Given the description of an element on the screen output the (x, y) to click on. 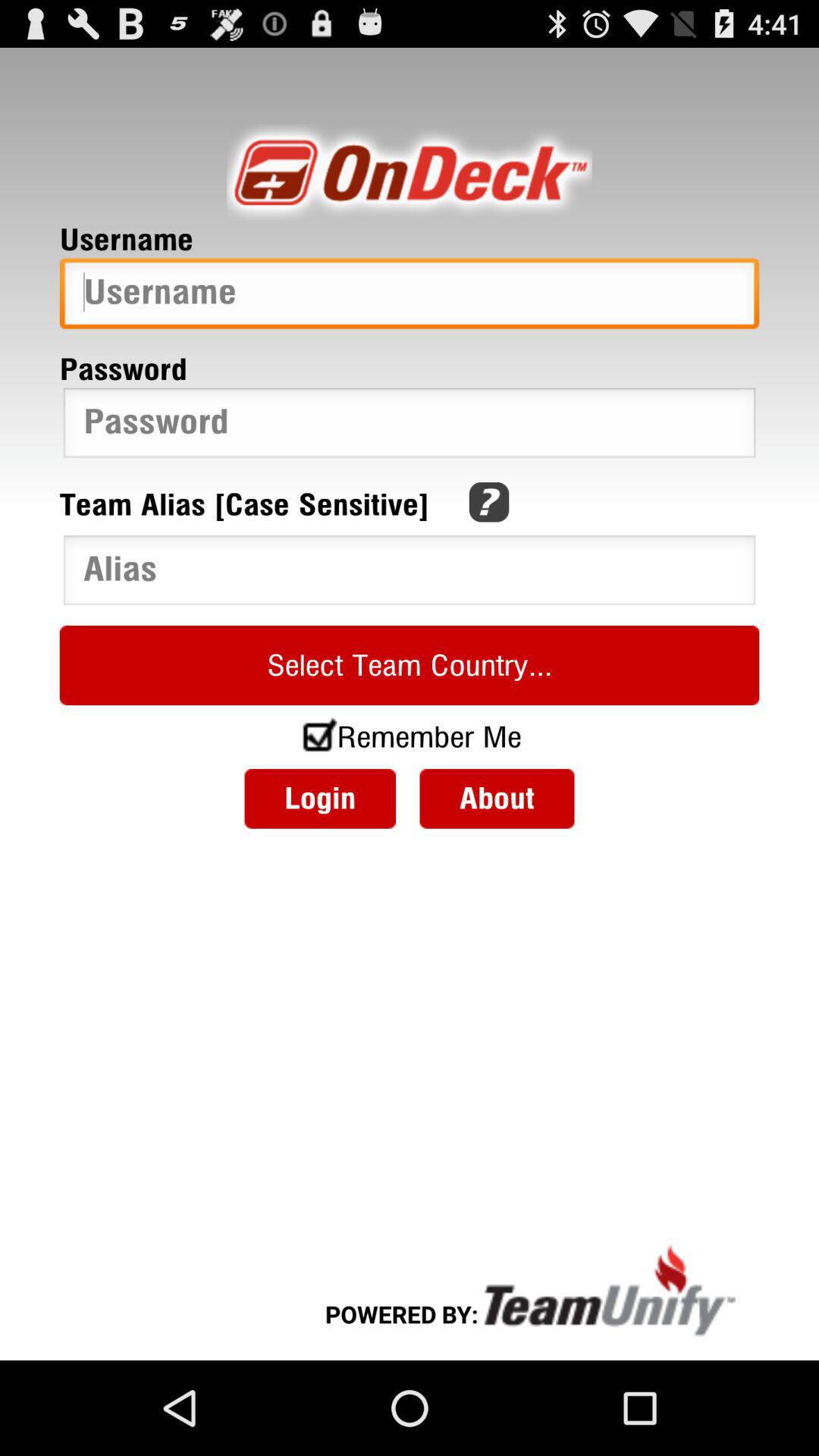
enter team alias (409, 573)
